Given the description of an element on the screen output the (x, y) to click on. 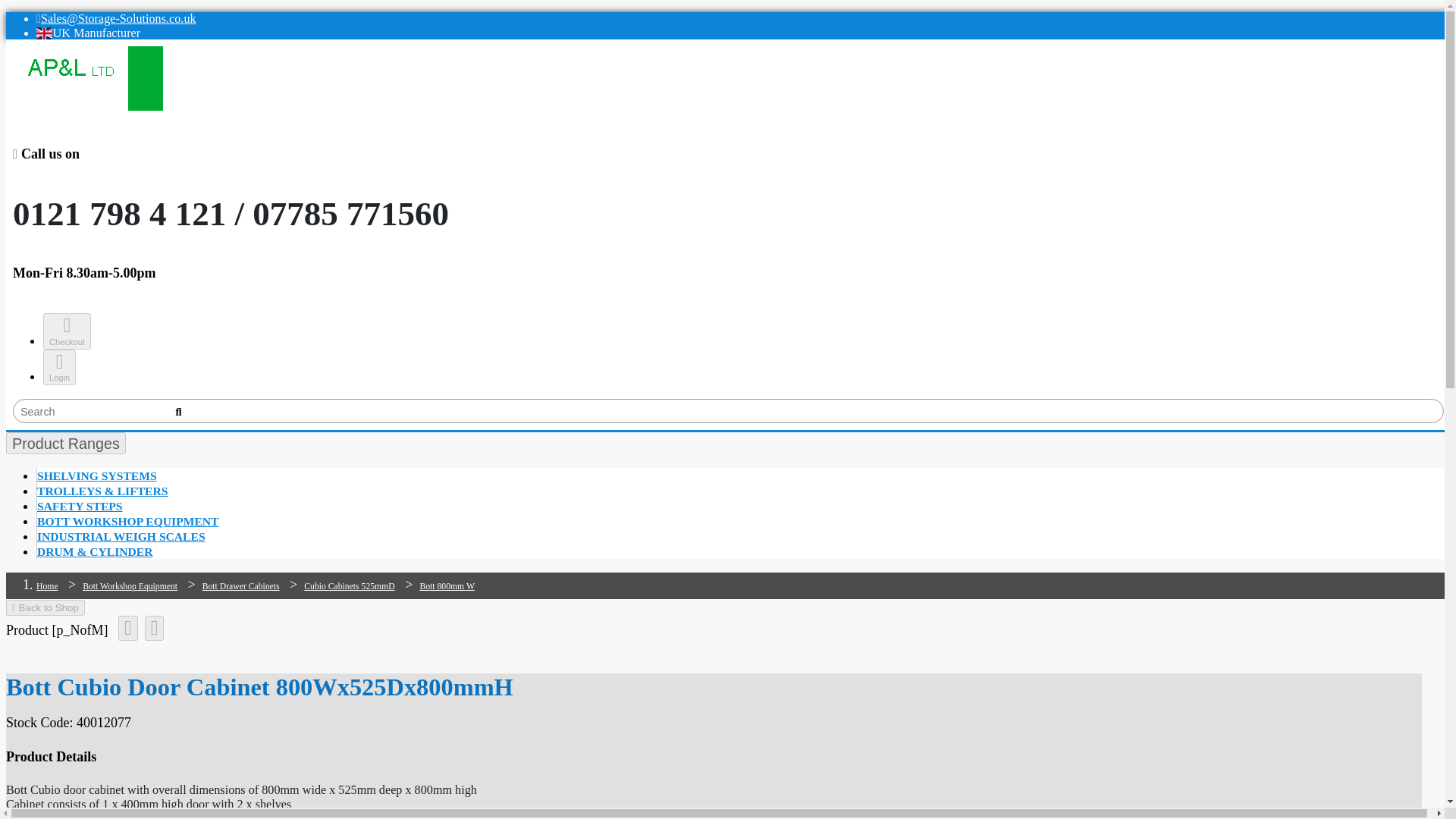
Login (59, 367)
 Back to Shop (44, 607)
Login (59, 367)
Bott Workshop Equipment (129, 586)
Bott Drawer Cabinets (240, 586)
Cubio Cabinets 525mmD (349, 586)
Home (47, 586)
Checkout (66, 330)
Checkout (66, 330)
Back (44, 607)
Bott 800mm W (446, 586)
